Given the description of an element on the screen output the (x, y) to click on. 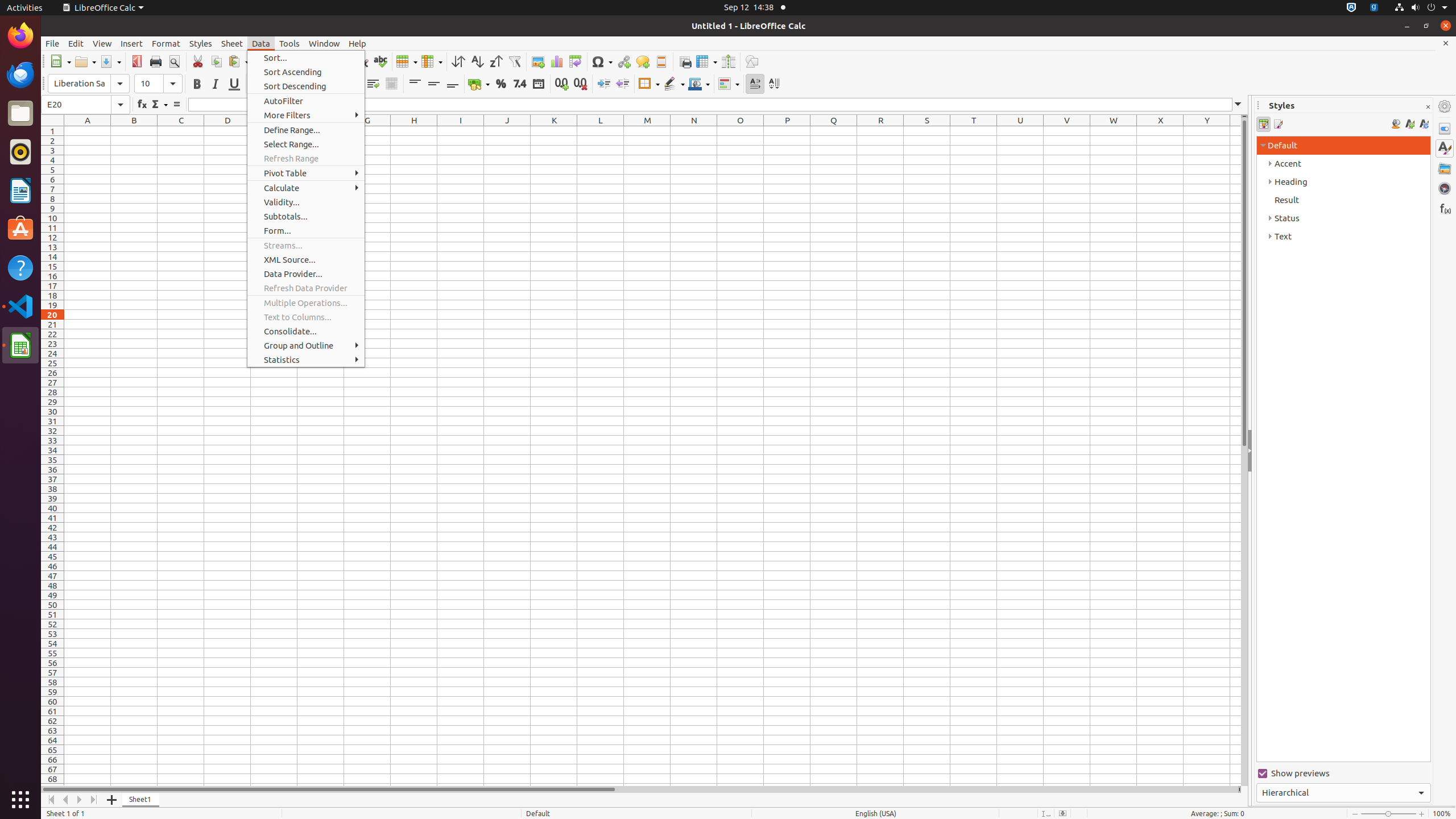
Border Style Element type: push-button (673, 83)
Tools Element type: menu (289, 43)
Sort... Element type: menu-item (305, 57)
Column Element type: push-button (431, 61)
Window Element type: menu (324, 43)
